Given the description of an element on the screen output the (x, y) to click on. 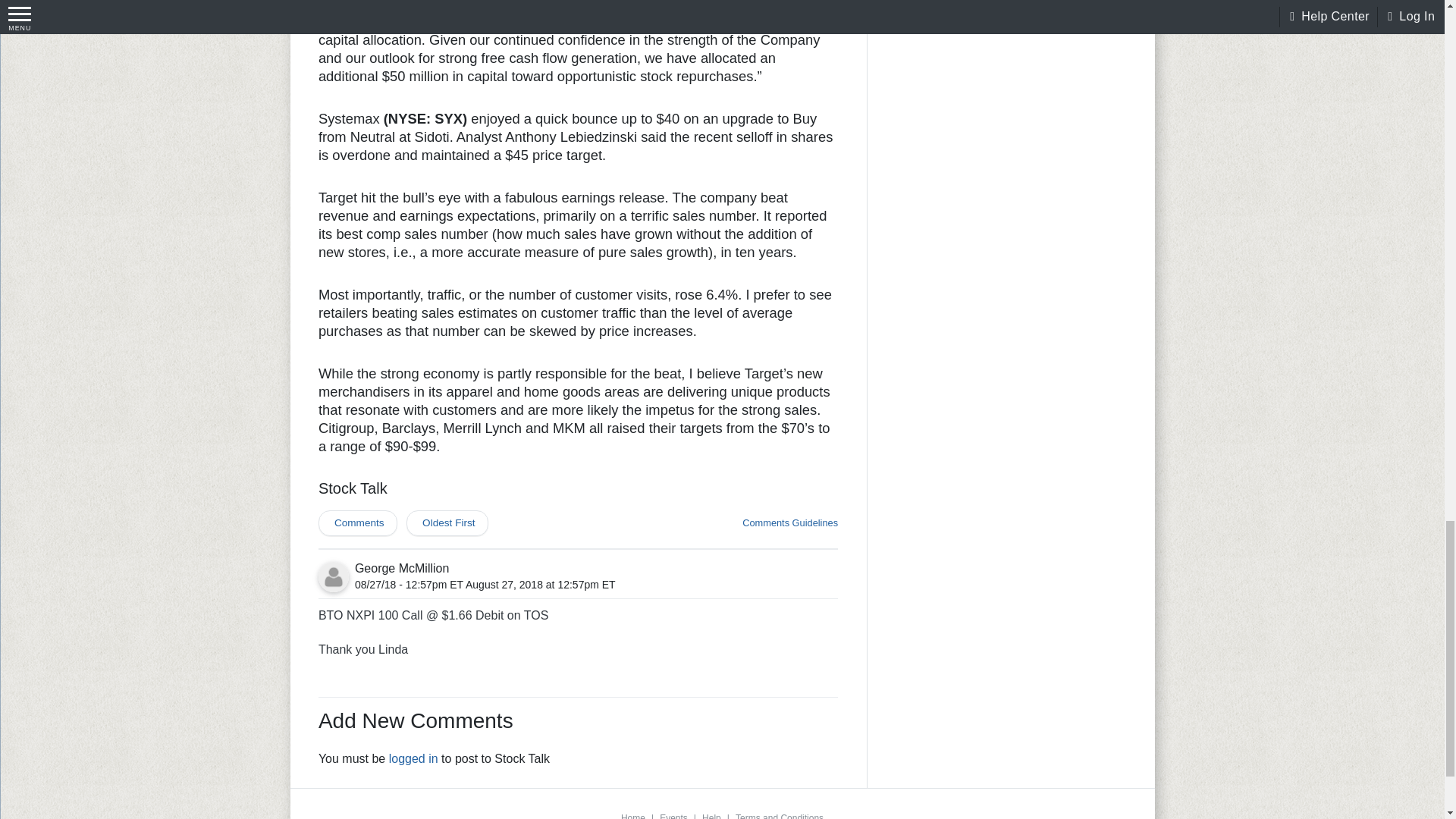
Change the order of comments to newest first (446, 523)
Comments guidelines (790, 522)
Add a new comment (357, 523)
